Given the description of an element on the screen output the (x, y) to click on. 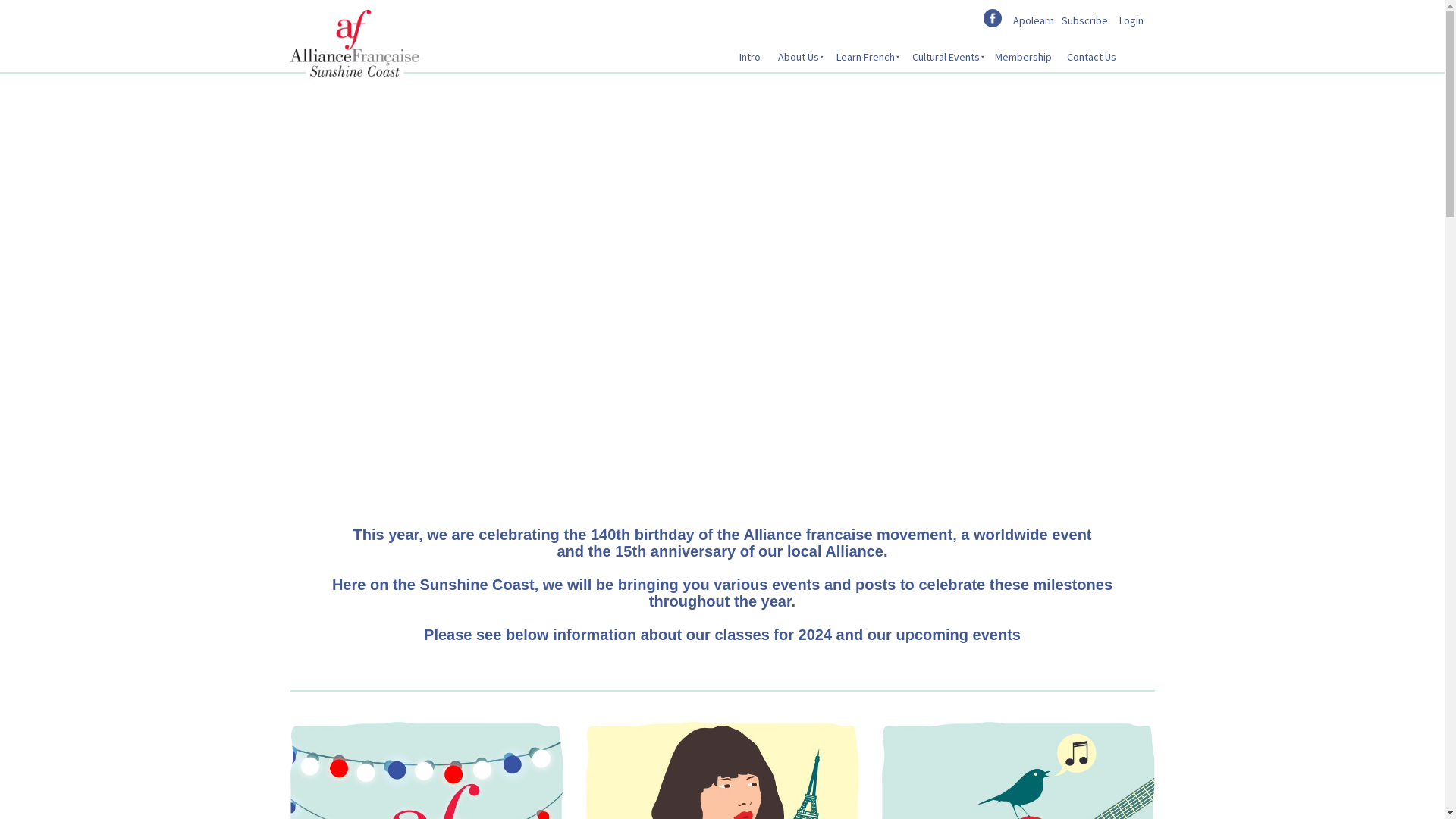
Subscribe Element type: text (1084, 20)
Apolearn Element type: text (1033, 20)
Learn French Element type: text (864, 56)
Login Element type: text (1131, 20)
Intro Element type: text (749, 56)
Contact Us Element type: text (1090, 56)
Membership Element type: text (1023, 56)
Cultural Events Element type: text (944, 56)
About Us Element type: text (796, 56)
